Given the description of an element on the screen output the (x, y) to click on. 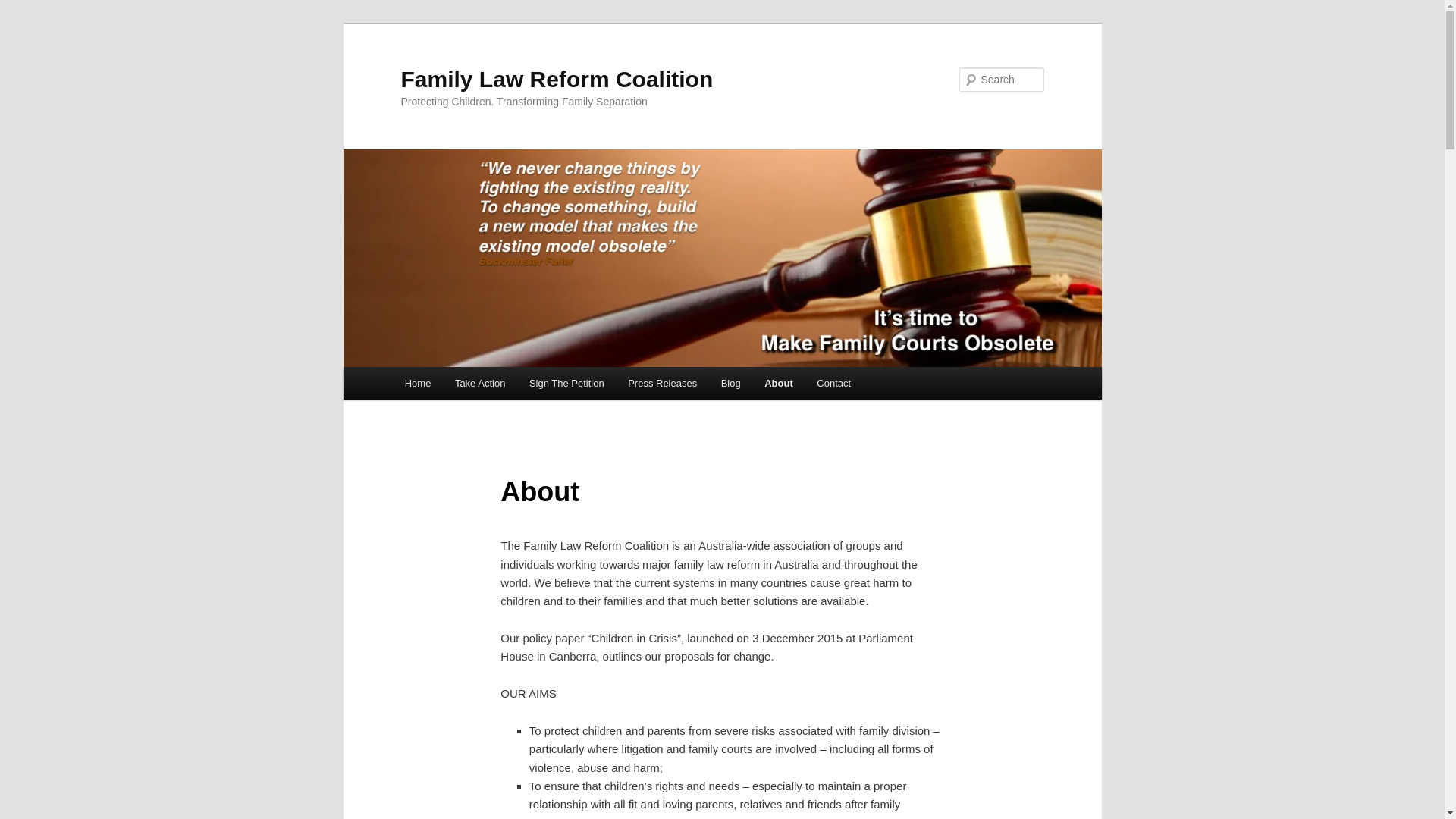
Contact (834, 382)
Family Law Reform Coalition (556, 78)
Home (417, 382)
About (778, 382)
Blog (730, 382)
Press Releases (662, 382)
Sign The Petition (565, 382)
Search (24, 8)
Take Action (479, 382)
